Given the description of an element on the screen output the (x, y) to click on. 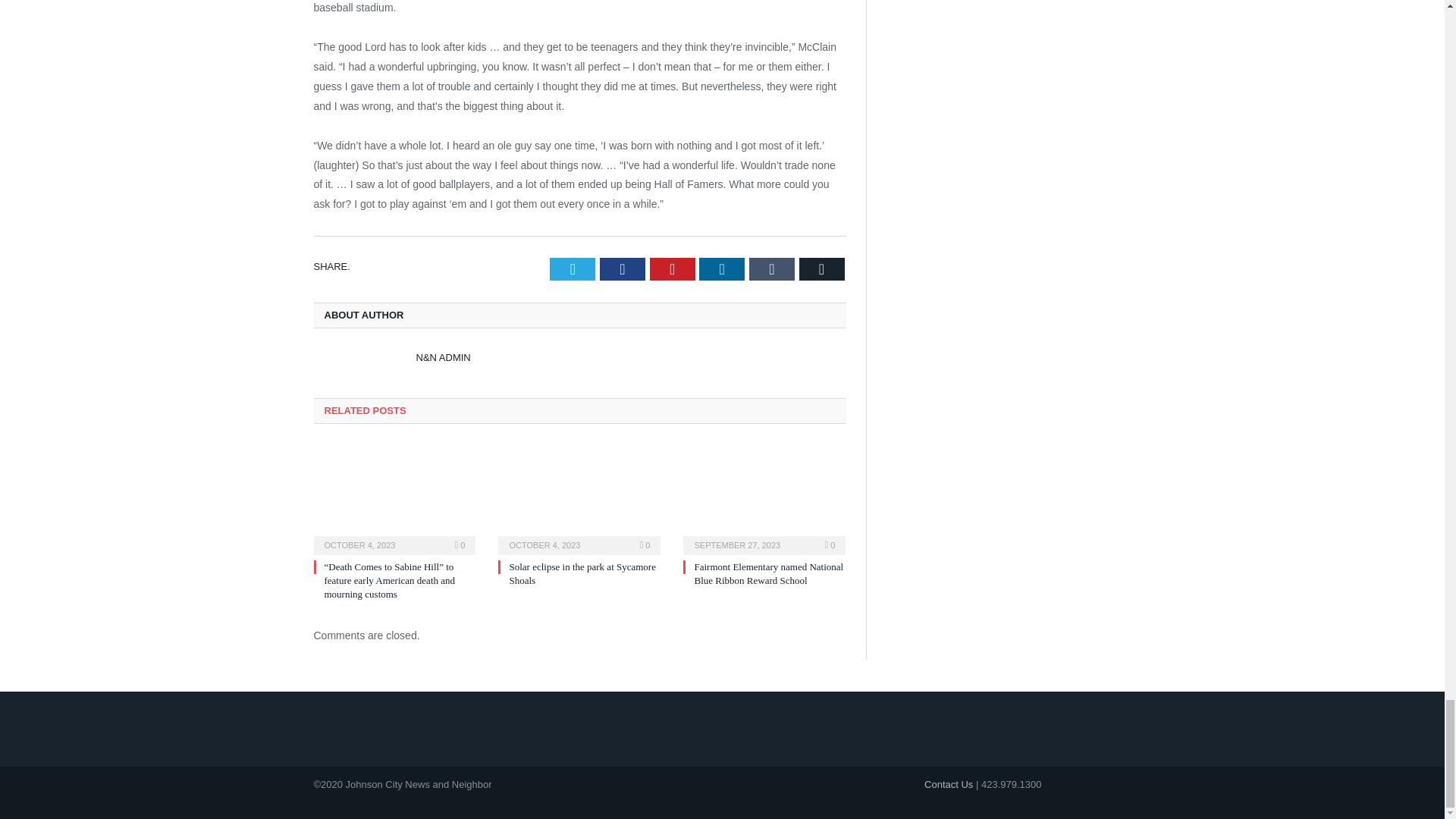
Twitter (572, 268)
Solar eclipse in the park at Sycamore Shoals (579, 498)
Pinterest (672, 268)
Solar eclipse in the park at Sycamore Shoals (582, 573)
Facebook (622, 268)
